Given the description of an element on the screen output the (x, y) to click on. 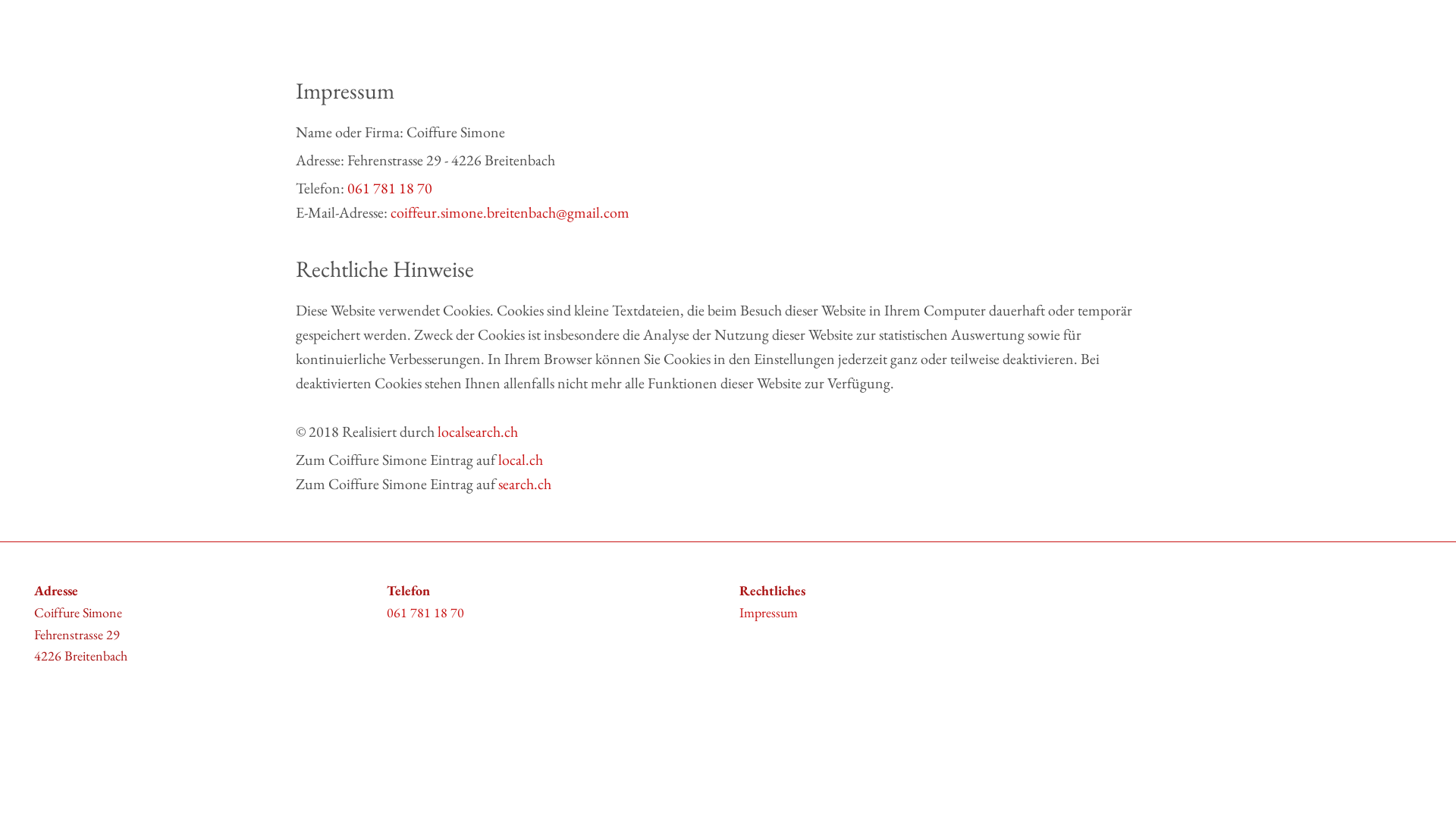
coiffeur.simone.breitenbach@gmail.com Element type: text (509, 212)
061 781 18 70 Element type: text (389, 187)
061 781 18 70 Element type: text (425, 612)
local.ch Element type: text (520, 459)
Impressum Element type: text (768, 612)
localsearch.ch Element type: text (477, 431)
search.ch Element type: text (524, 483)
